Given the description of an element on the screen output the (x, y) to click on. 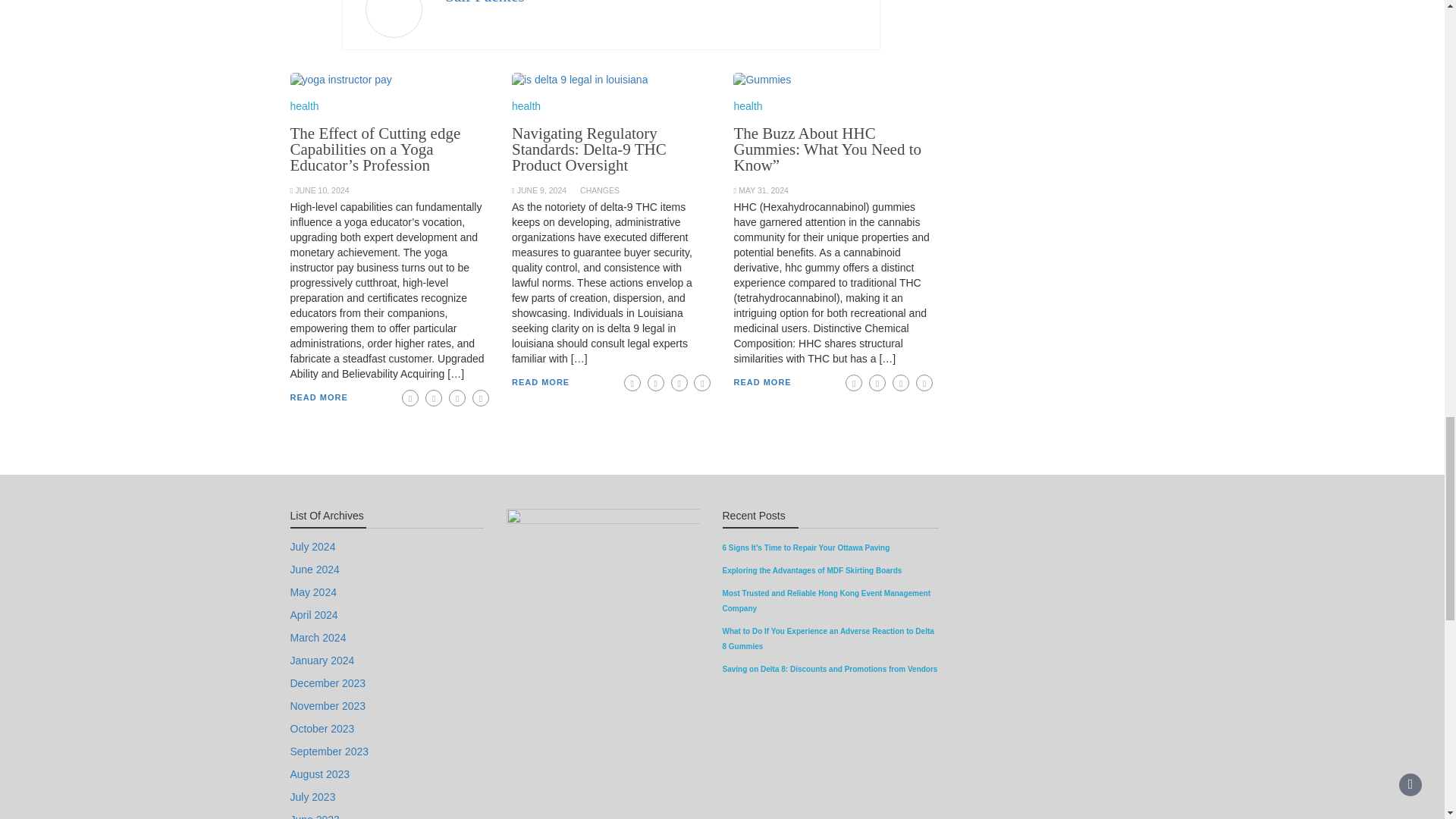
JUNE 10, 2024 (322, 189)
READ MORE (318, 397)
Saif Fuentes (484, 2)
health (303, 105)
